Given the description of an element on the screen output the (x, y) to click on. 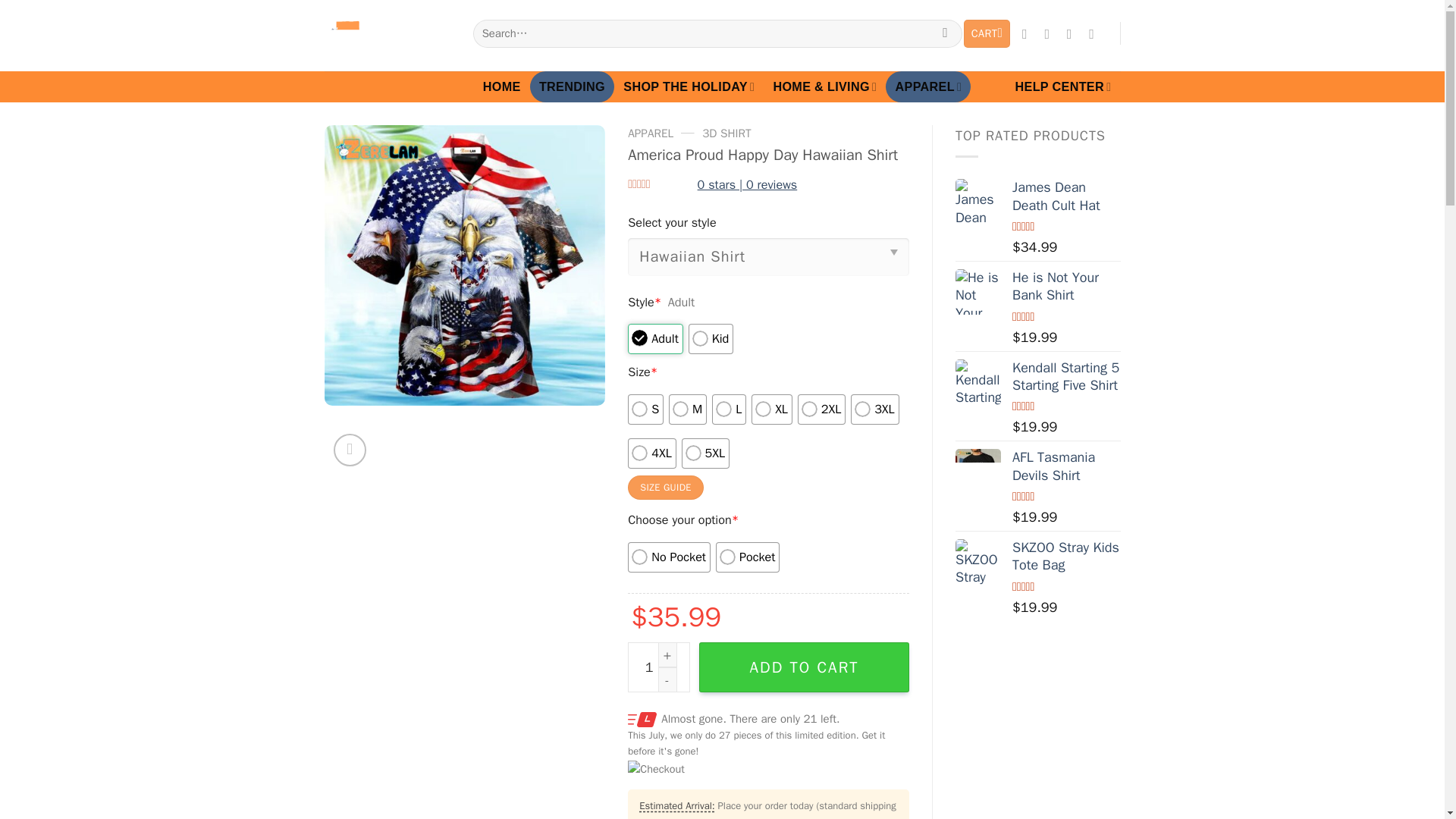
Kendall Starting 5 Starting Five Shirt (978, 381)
APPAREL (928, 86)
CART (986, 33)
SHOP THE HOLIDAY (688, 86)
SKZOO Stray Kids Tote Bag (978, 561)
AFL Tasmania Devils Shirt (978, 471)
Zerelam - Best Clothes For Your Family (386, 35)
Cart (986, 33)
James Dean Death Cult Hat (978, 201)
He is Not Your Bank Shirt (978, 291)
TRENDING (571, 86)
HOME (501, 86)
Search (945, 33)
America Proud Happy Day Hawaiian Shirt (464, 264)
1 (658, 667)
